Given the description of an element on the screen output the (x, y) to click on. 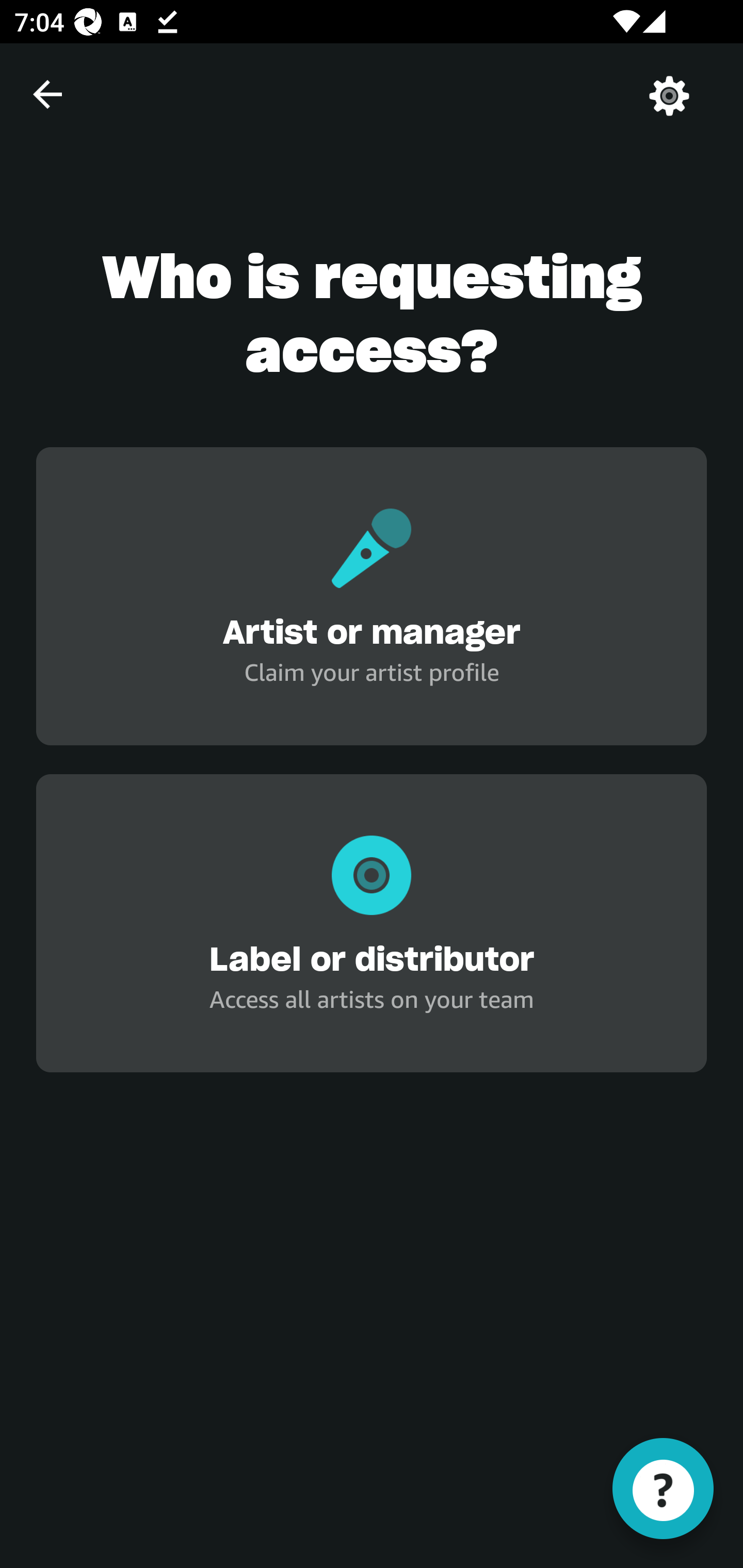
ArtistSelect, back (47, 93)
